Given the description of an element on the screen output the (x, y) to click on. 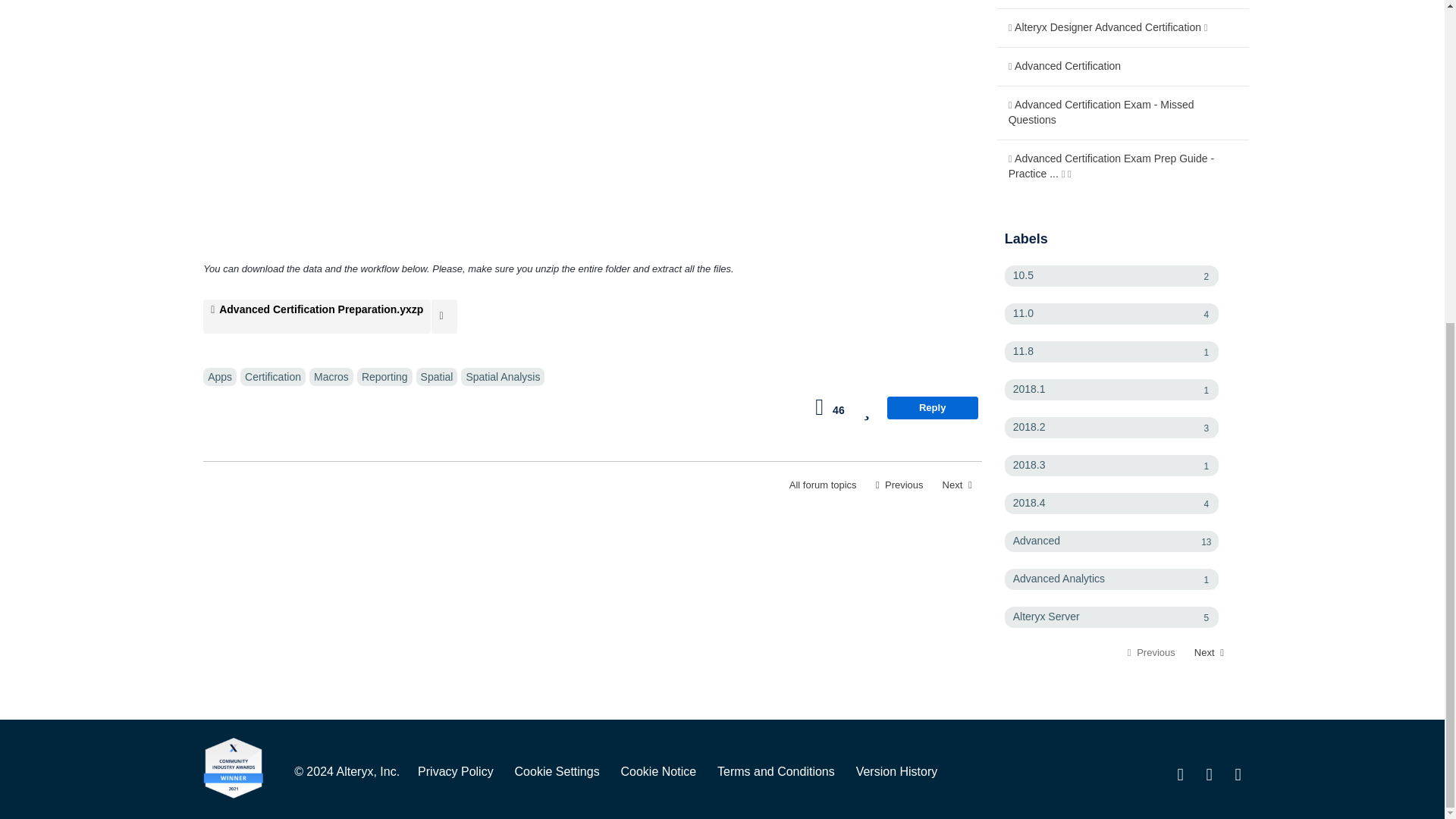
YouTube video player (415, 124)
Download attachment (444, 316)
